Given the description of an element on the screen output the (x, y) to click on. 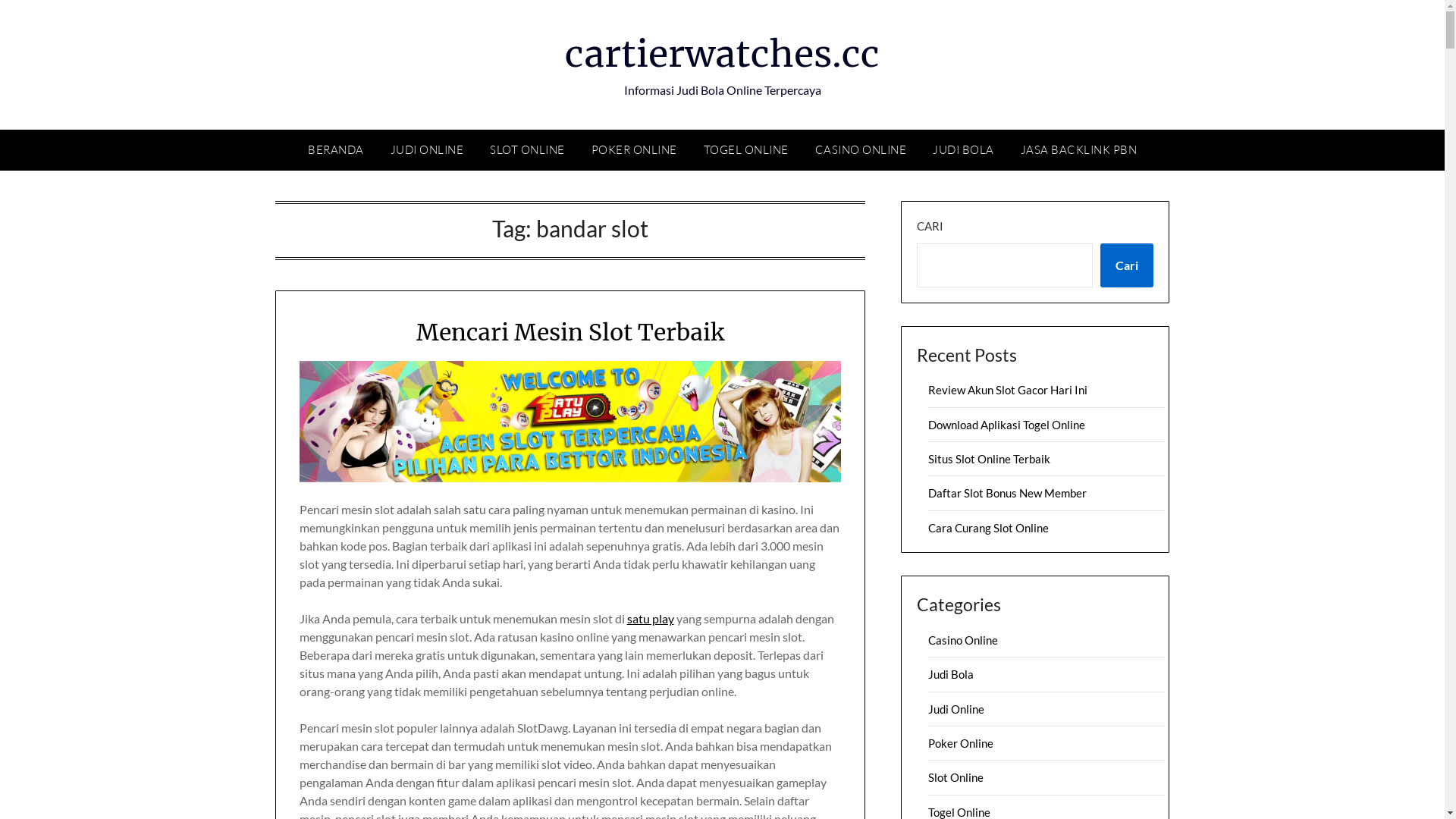
Situs Slot Online Terbaik Element type: text (989, 458)
POKER ONLINE Element type: text (634, 149)
Download Aplikasi Togel Online Element type: text (1006, 424)
JASA BACKLINK PBN Element type: text (1078, 149)
Review Akun Slot Gacor Hari Ini Element type: text (1007, 389)
TOGEL ONLINE Element type: text (745, 149)
cartierwatches.cc Element type: text (721, 53)
CASINO ONLINE Element type: text (860, 149)
Judi Bola Element type: text (950, 673)
Daftar Slot Bonus New Member Element type: text (1007, 492)
Slot Online Element type: text (955, 777)
Poker Online Element type: text (960, 742)
BERANDA Element type: text (335, 149)
JUDI BOLA Element type: text (963, 149)
Mencari Mesin Slot Terbaik Element type: text (570, 331)
satu play Element type: text (650, 618)
Cara Curang Slot Online Element type: text (988, 527)
Judi Online Element type: text (956, 708)
Cari Element type: text (1126, 265)
Casino Online Element type: text (962, 639)
SLOT ONLINE Element type: text (527, 149)
JUDI ONLINE Element type: text (426, 149)
